Given the description of an element on the screen output the (x, y) to click on. 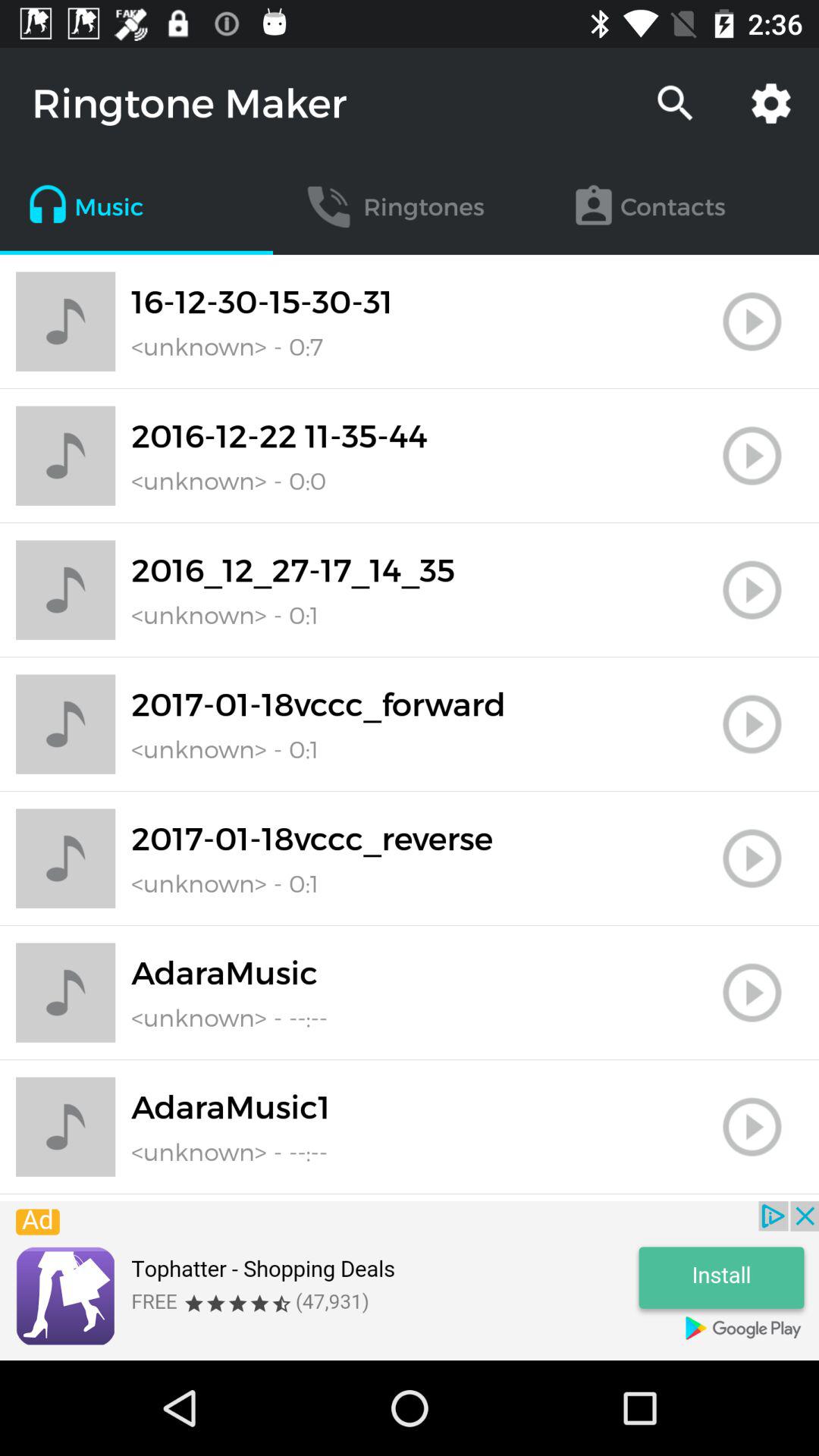
advertisement page (409, 1280)
